Given the description of an element on the screen output the (x, y) to click on. 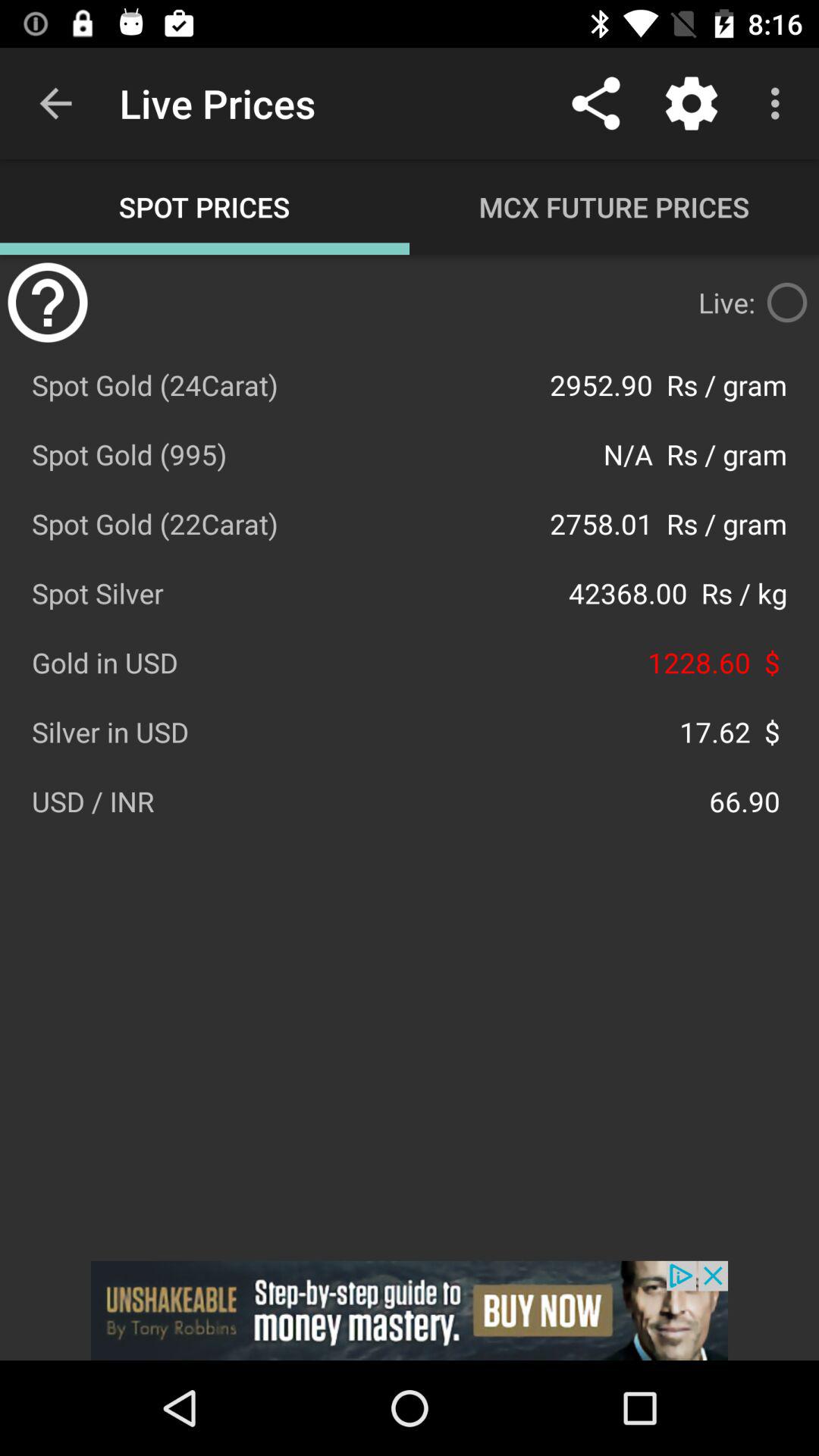
type the message (787, 302)
